Given the description of an element on the screen output the (x, y) to click on. 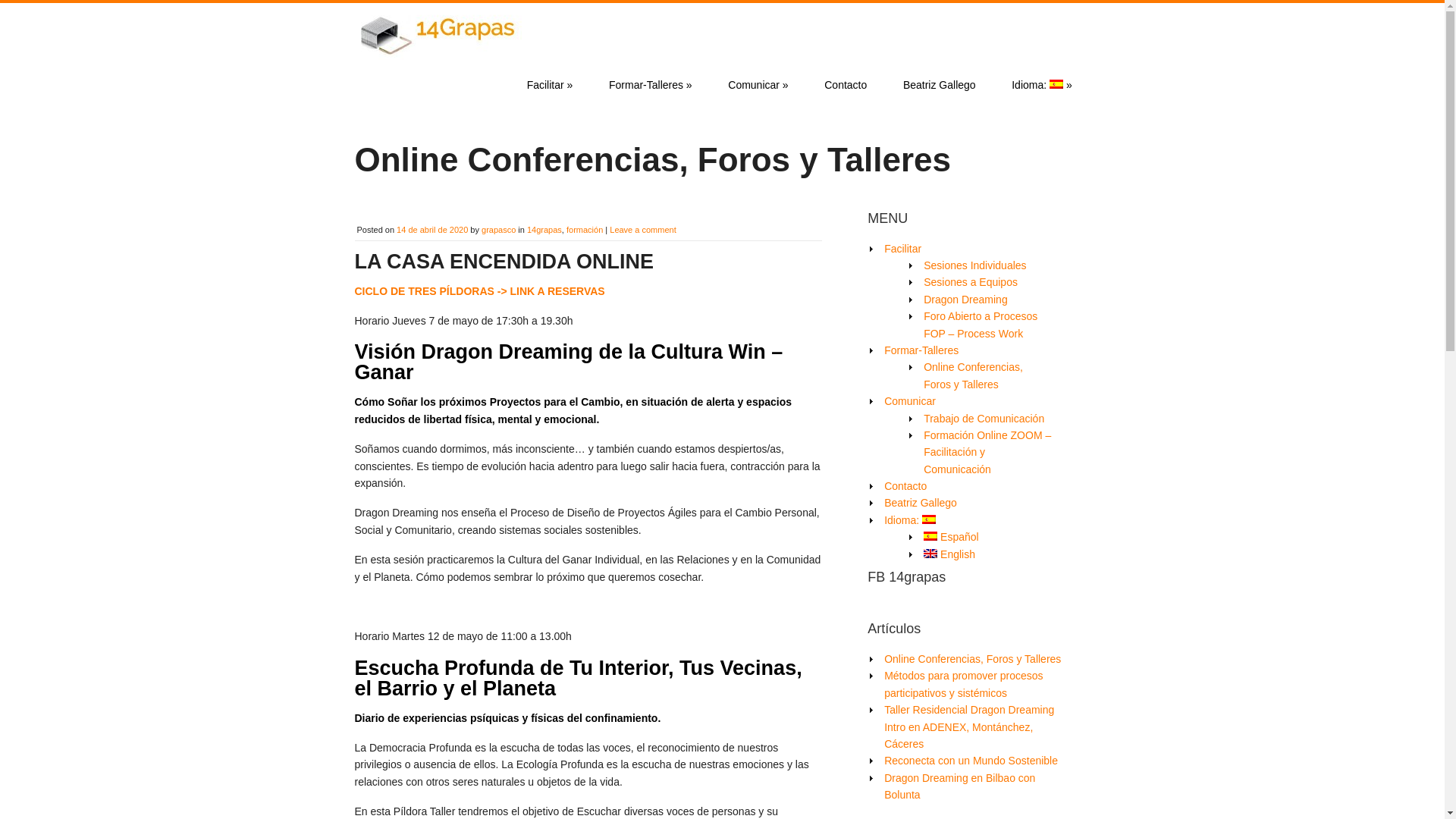
grapasco Element type: text (498, 229)
Facilitar Element type: text (902, 248)
Idioma:  Element type: text (909, 520)
Comunicar Element type: text (909, 401)
Contacto Element type: text (905, 486)
Sesiones a Equipos Element type: text (970, 282)
14grapas Element type: text (544, 229)
Dragon Dreaming en Bilbao con Bolunta Element type: text (959, 785)
Dragon Dreaming Element type: text (965, 299)
14 de abril de 2020 Element type: text (431, 229)
Formar-Talleres Element type: text (921, 350)
14grapas Element type: hover (437, 56)
Reconecta con un Mundo Sostenible Element type: text (970, 760)
Beatriz Gallego Element type: text (920, 502)
Online Conferencias, Foros y Talleres Element type: text (972, 658)
Online Conferencias, Foros y Talleres Element type: text (972, 374)
 English Element type: text (949, 554)
Contacto Element type: text (845, 84)
Beatriz Gallego Element type: text (938, 84)
Sesiones Individuales Element type: text (974, 265)
Leave a comment Element type: text (642, 229)
